Given the description of an element on the screen output the (x, y) to click on. 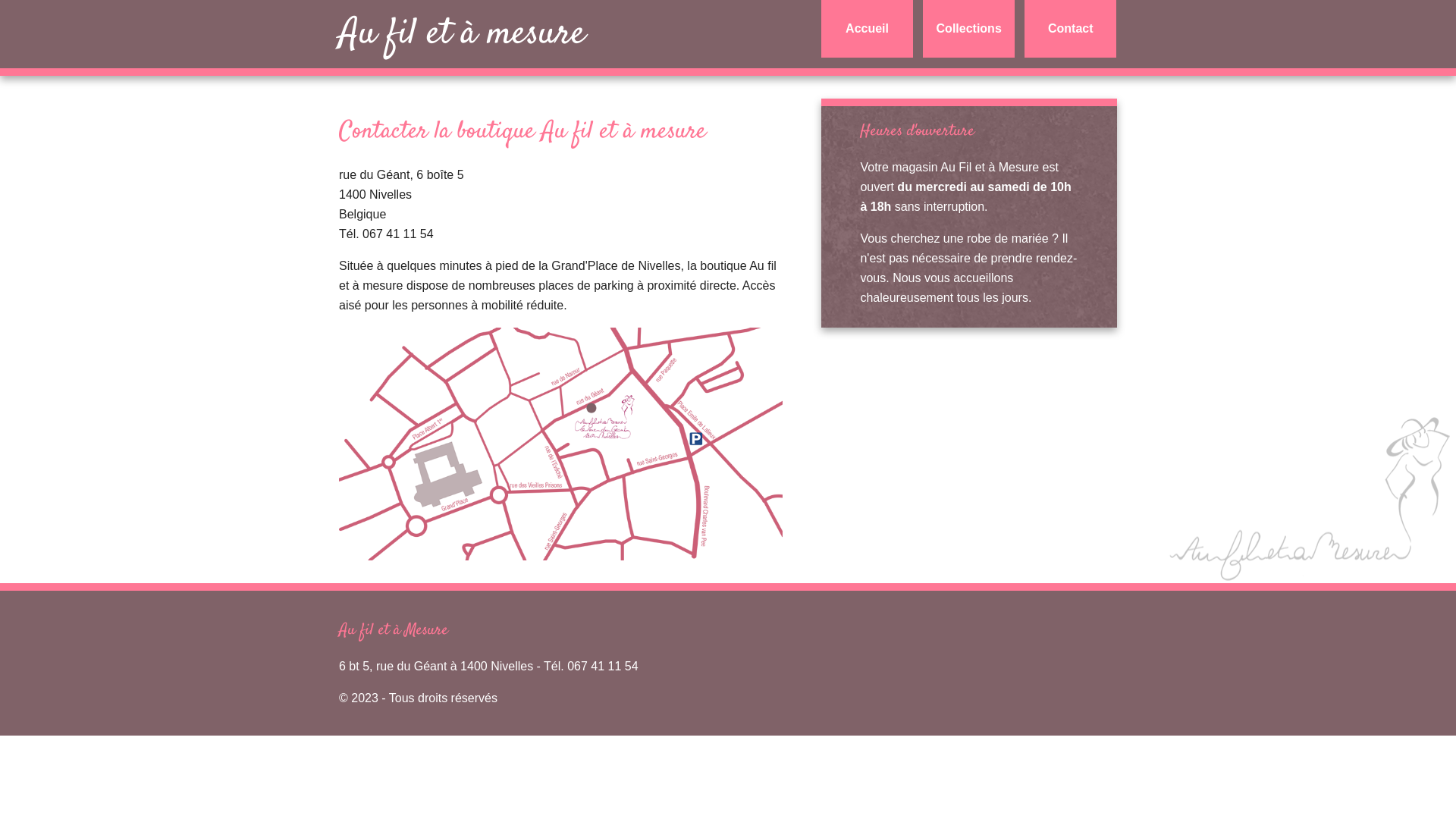
Cliquez sur la carte pour la voir en grand Element type: hover (560, 443)
Accueil Element type: text (867, 28)
Contact Element type: text (1070, 28)
Collections Element type: text (968, 28)
